Given the description of an element on the screen output the (x, y) to click on. 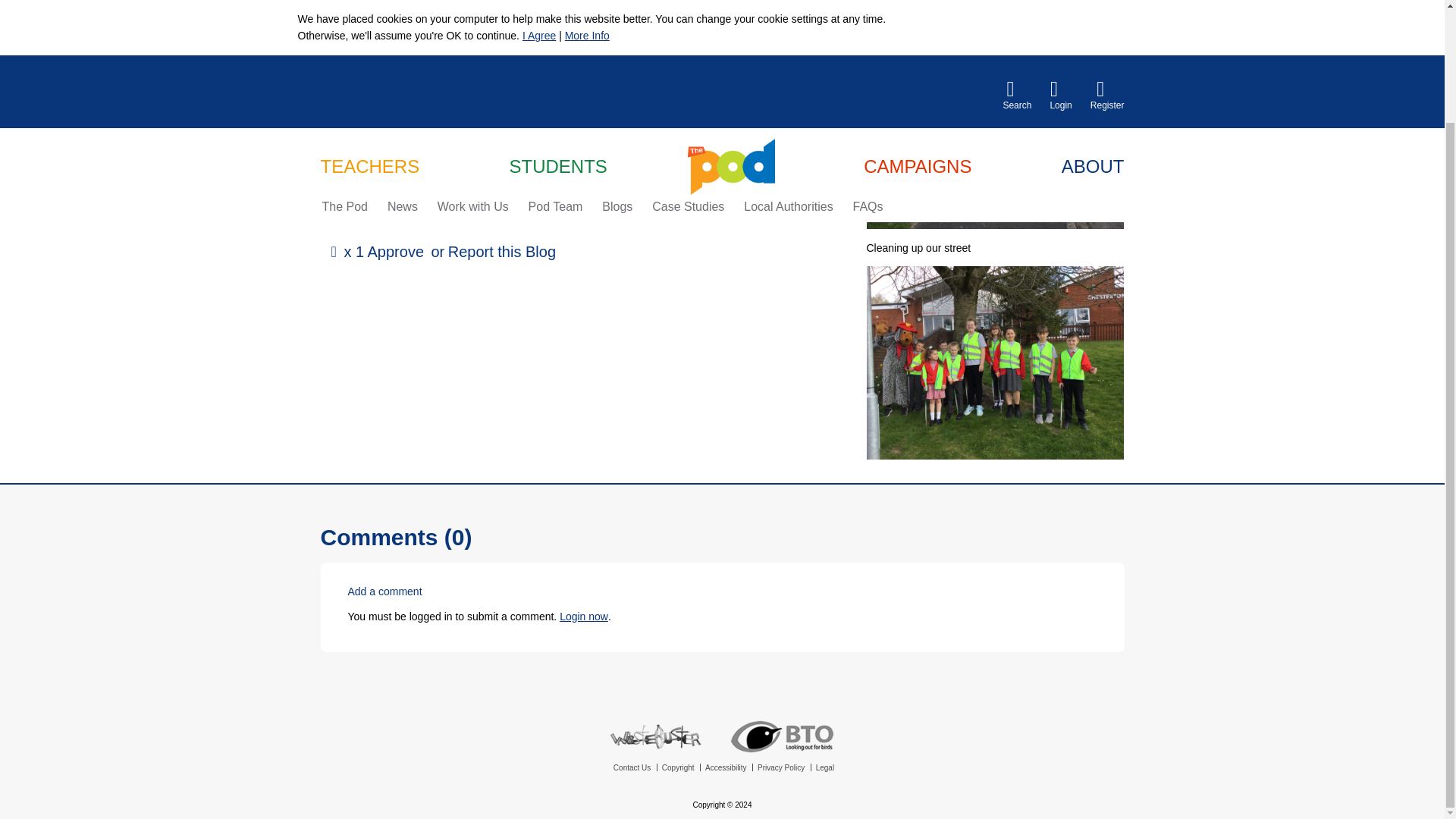
The Pod (344, 73)
TEACHERS (369, 34)
Legal (822, 767)
Blogs (616, 73)
Case Studies (687, 73)
ABOUT (1092, 34)
News (402, 73)
Pod Team (556, 73)
Report this Blog (502, 252)
Work with Us (473, 73)
CAMPAIGNS (917, 34)
FAQs (868, 73)
x 1 Approve (375, 252)
Contact Us (630, 767)
Privacy Policy (779, 767)
